Given the description of an element on the screen output the (x, y) to click on. 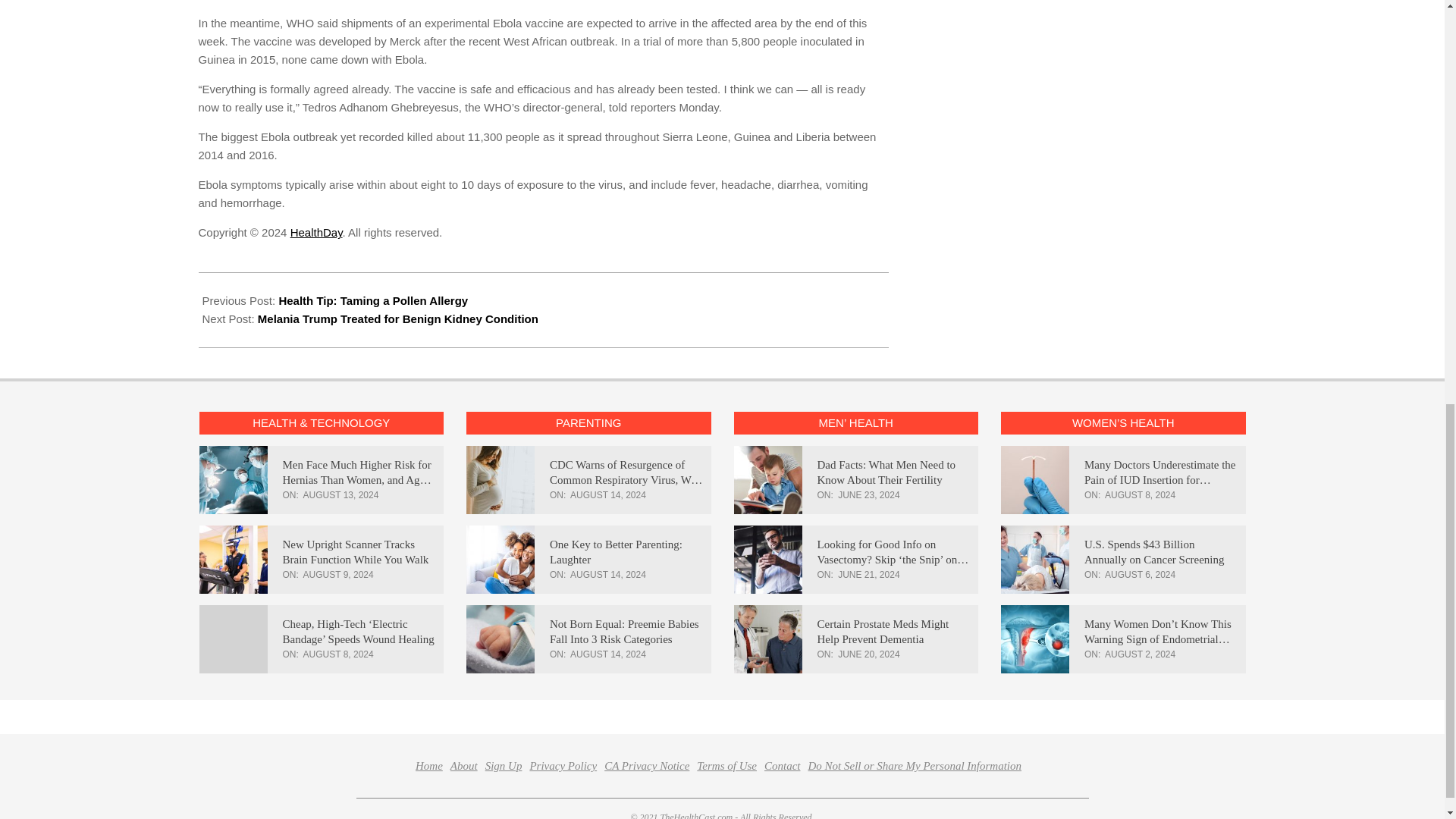
Wednesday, August 14, 2024, 9:19 am (608, 654)
Sunday, June 23, 2024, 1:00 pm (868, 494)
Thursday, June 20, 2024, 9:49 am (868, 654)
Tuesday, August 6, 2024, 10:56 am (1139, 574)
Do Not Sell or Share My Personal Information (915, 766)
HealthDay (315, 232)
Friday, August 2, 2024, 9:53 am (1139, 654)
Tuesday, August 13, 2024, 10:22 am (340, 494)
Thursday, August 8, 2024, 10:59 am (1139, 494)
Friday, August 9, 2024, 9:54 am (338, 574)
